Given the description of an element on the screen output the (x, y) to click on. 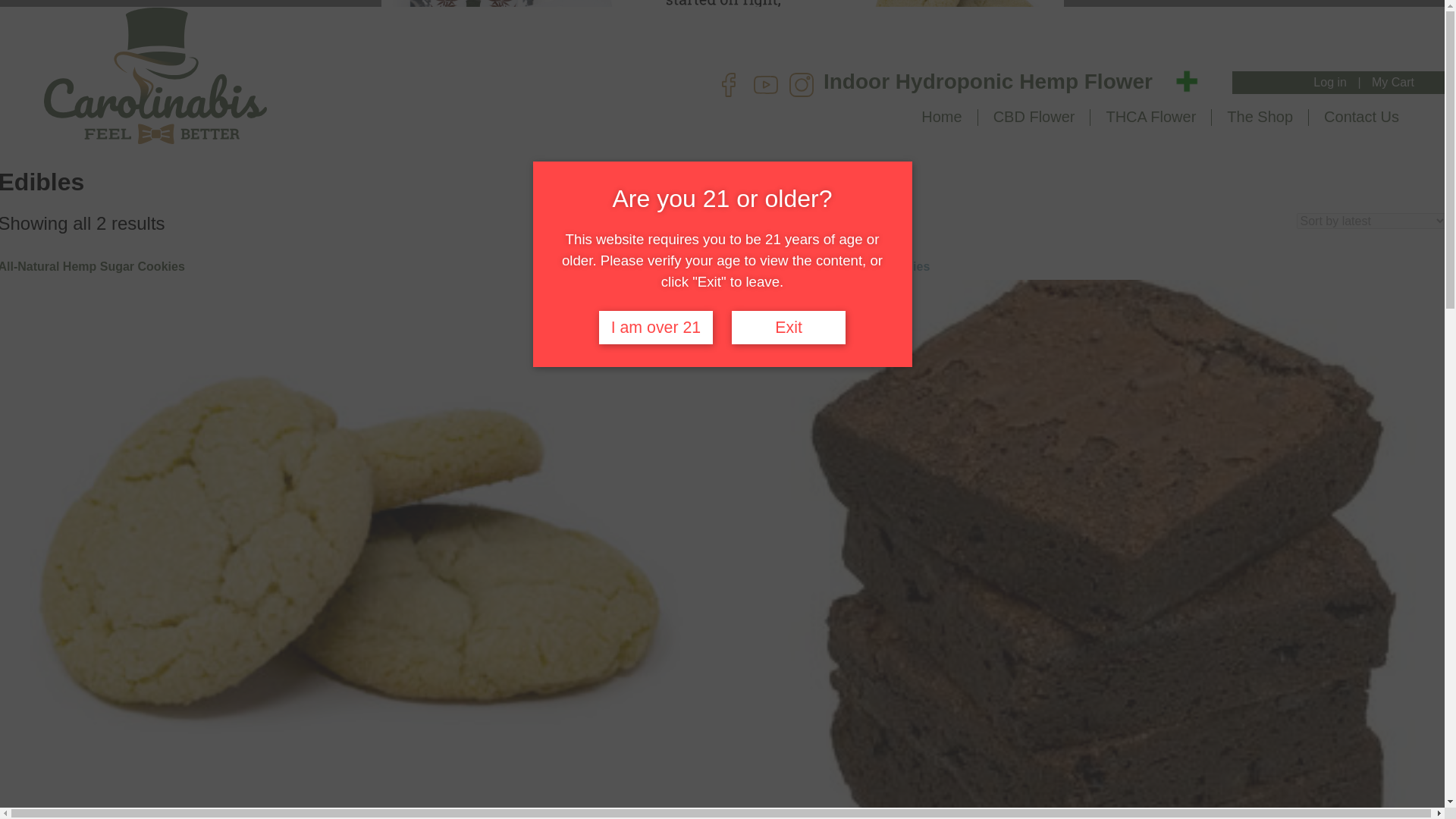
CBD Flower (1033, 116)
The Shop (1259, 116)
Log in (1330, 82)
Home (940, 116)
Contact Us (1361, 116)
My Cart (1393, 82)
Treat Yourself. Feel Better. (154, 75)
THCA Flower (1150, 116)
